Given the description of an element on the screen output the (x, y) to click on. 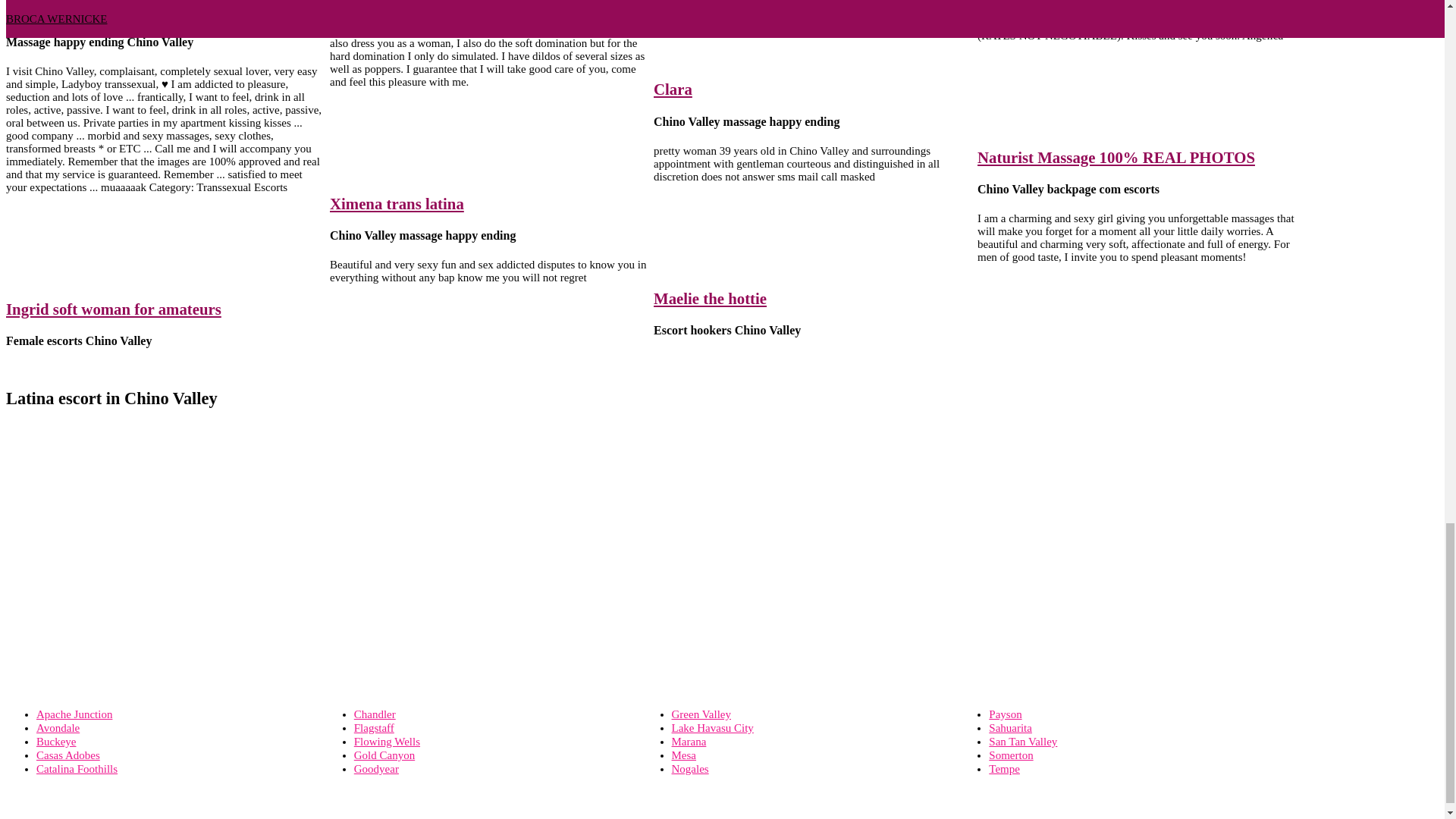
Clara (673, 88)
Strella xxx sex porn star (87, 9)
Ximena trans latina (397, 203)
Ingrid soft woman for amateurs (113, 308)
